Given the description of an element on the screen output the (x, y) to click on. 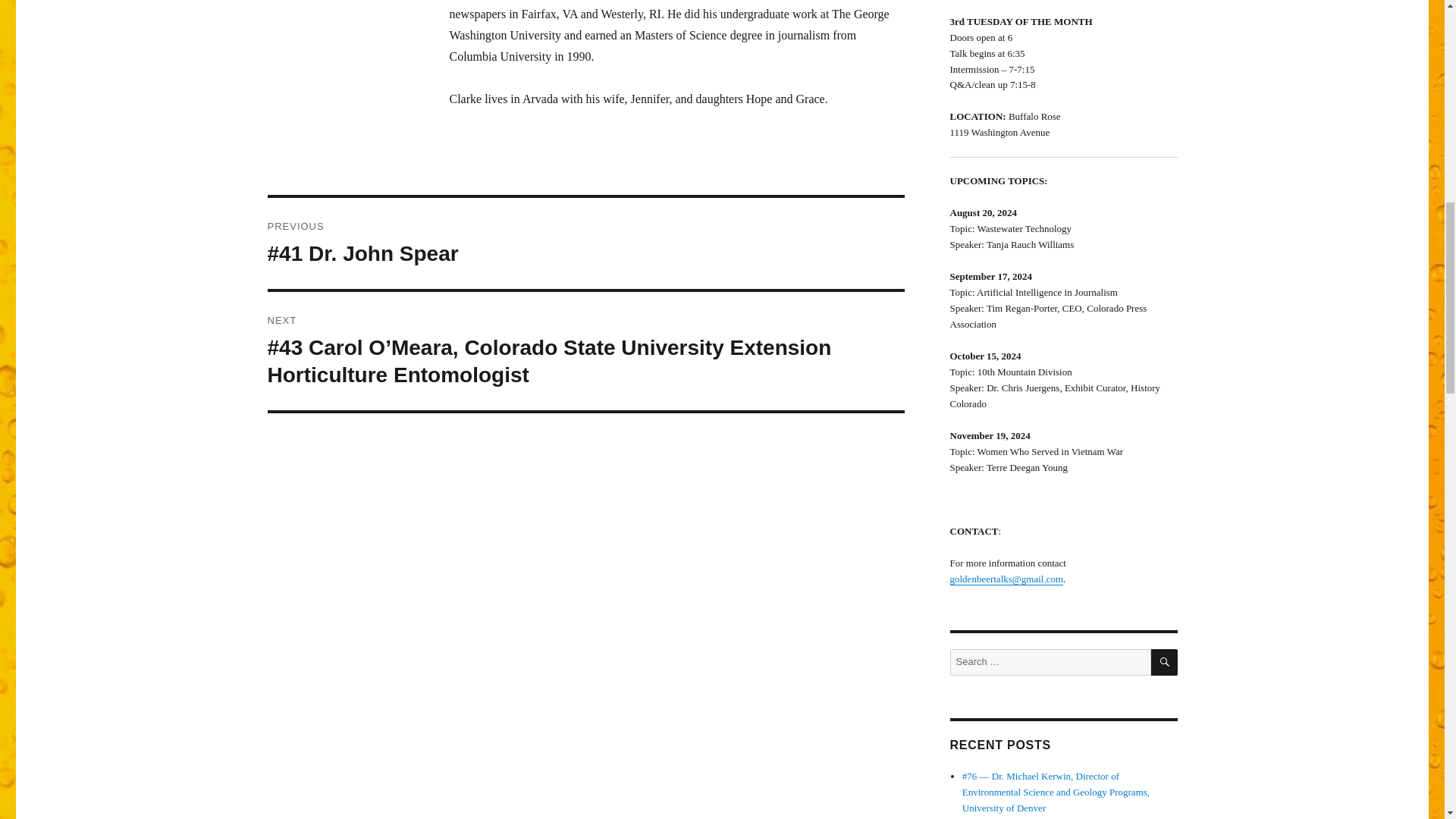
SEARCH (1164, 662)
